Given the description of an element on the screen output the (x, y) to click on. 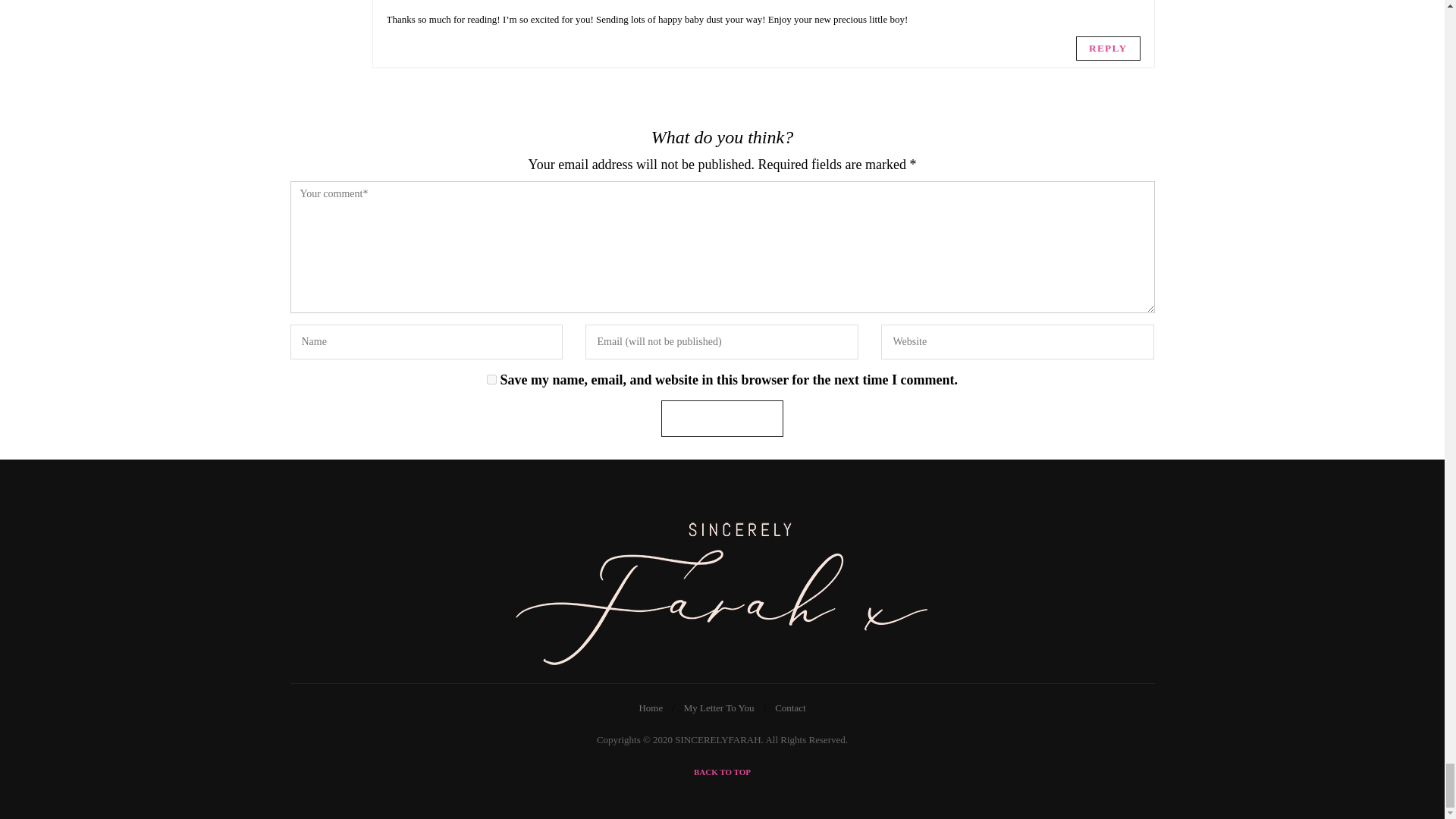
yes (491, 379)
Post comment (722, 418)
